Given the description of an element on the screen output the (x, y) to click on. 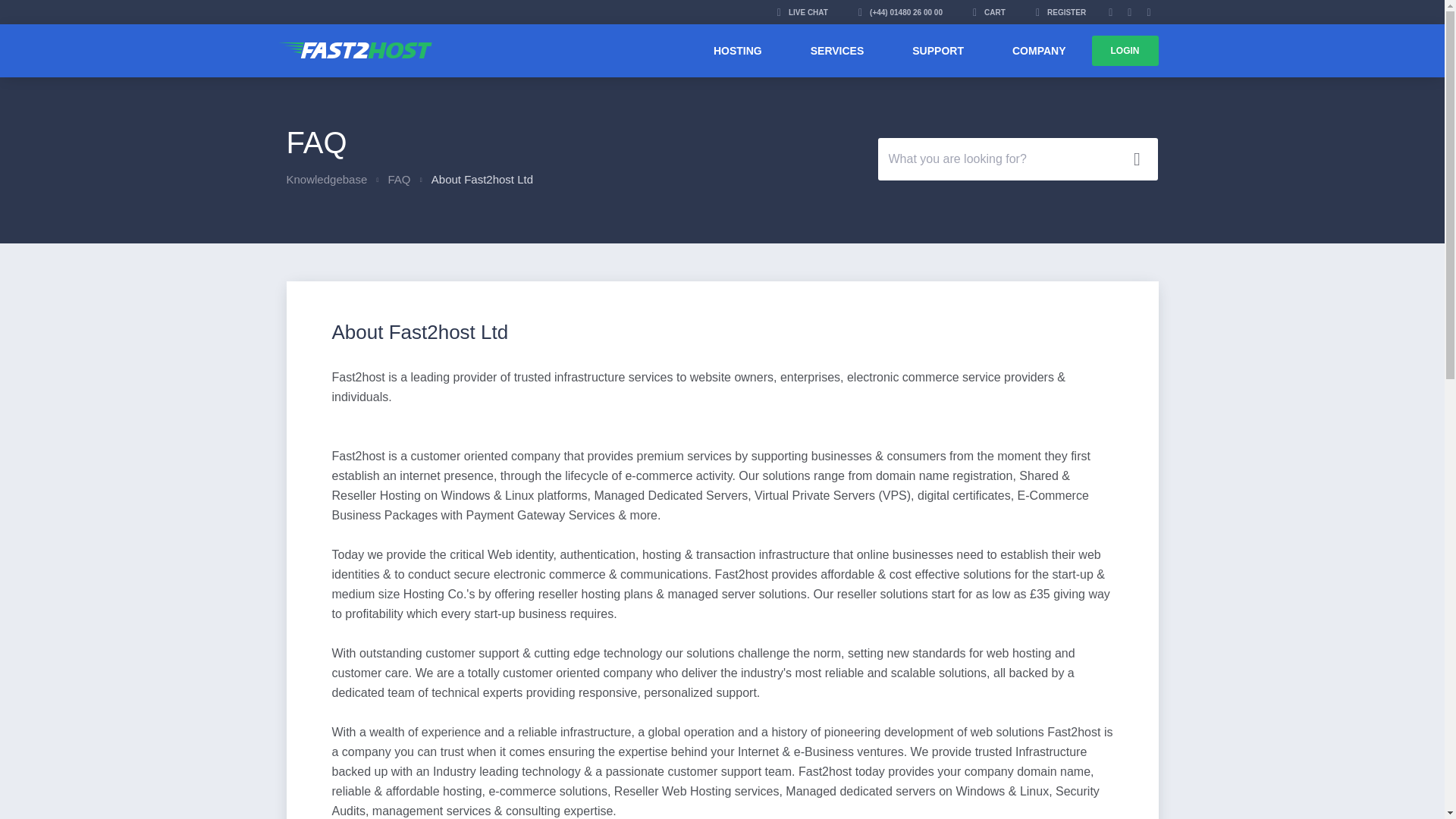
Knowledgebase (327, 178)
HOSTING (737, 50)
LIVE CHAT (802, 12)
COMPANY (1039, 50)
SERVICES (836, 50)
REGISTER (1060, 12)
SUPPORT (938, 50)
CART (989, 12)
LOGIN (1125, 51)
